Given the description of an element on the screen output the (x, y) to click on. 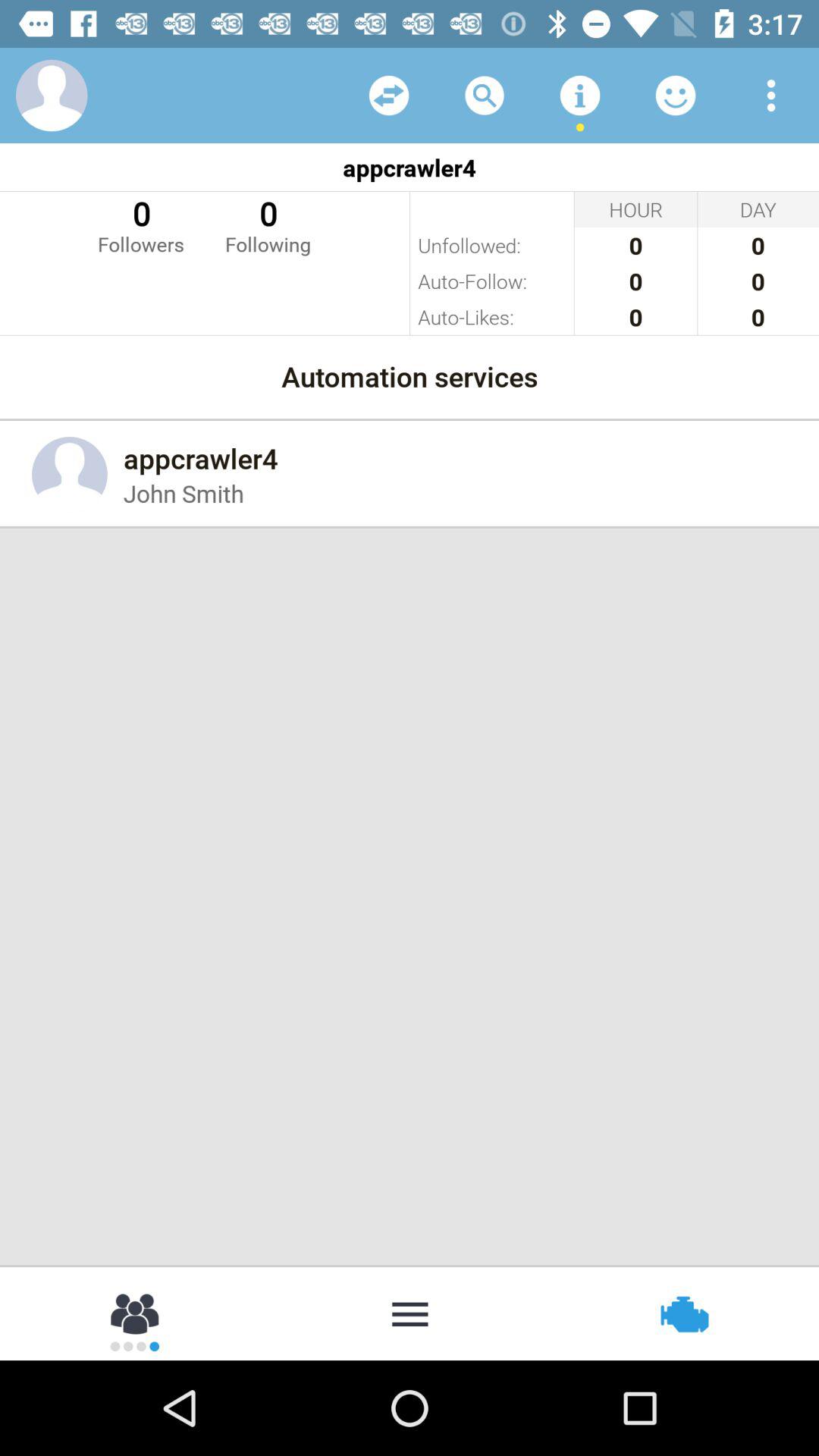
select the item above appcrawler4 icon (484, 95)
